Given the description of an element on the screen output the (x, y) to click on. 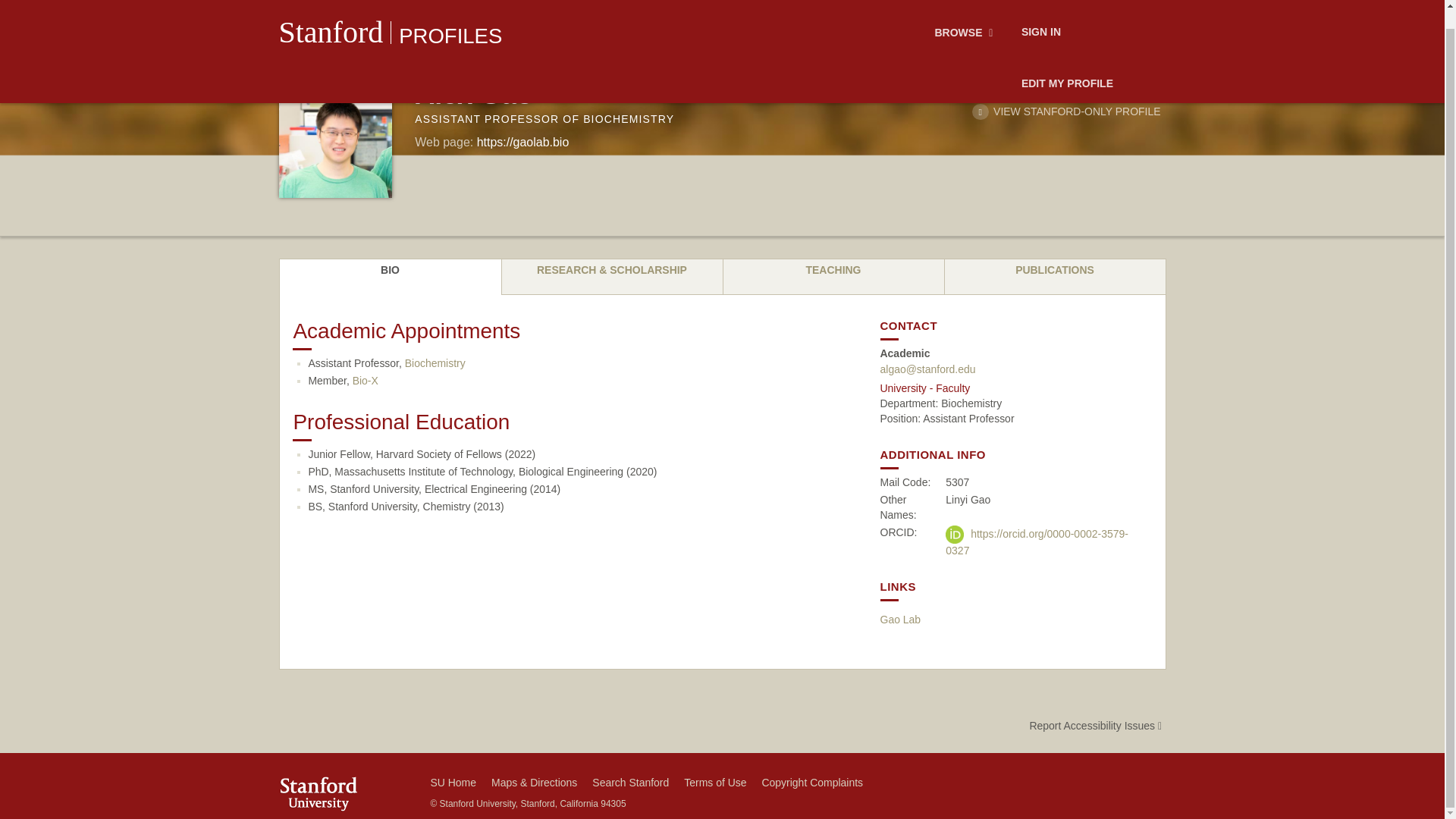
EDIT MY PROFILE (1067, 65)
Stanford (331, 15)
VIEW STANFORD-ONLY PROFILE (1066, 111)
PRINT PROFILE (1000, 89)
EMAIL PROFILE (1109, 89)
BROWSE (966, 16)
PROFILES (450, 17)
SIGN IN (1040, 16)
